Given the description of an element on the screen output the (x, y) to click on. 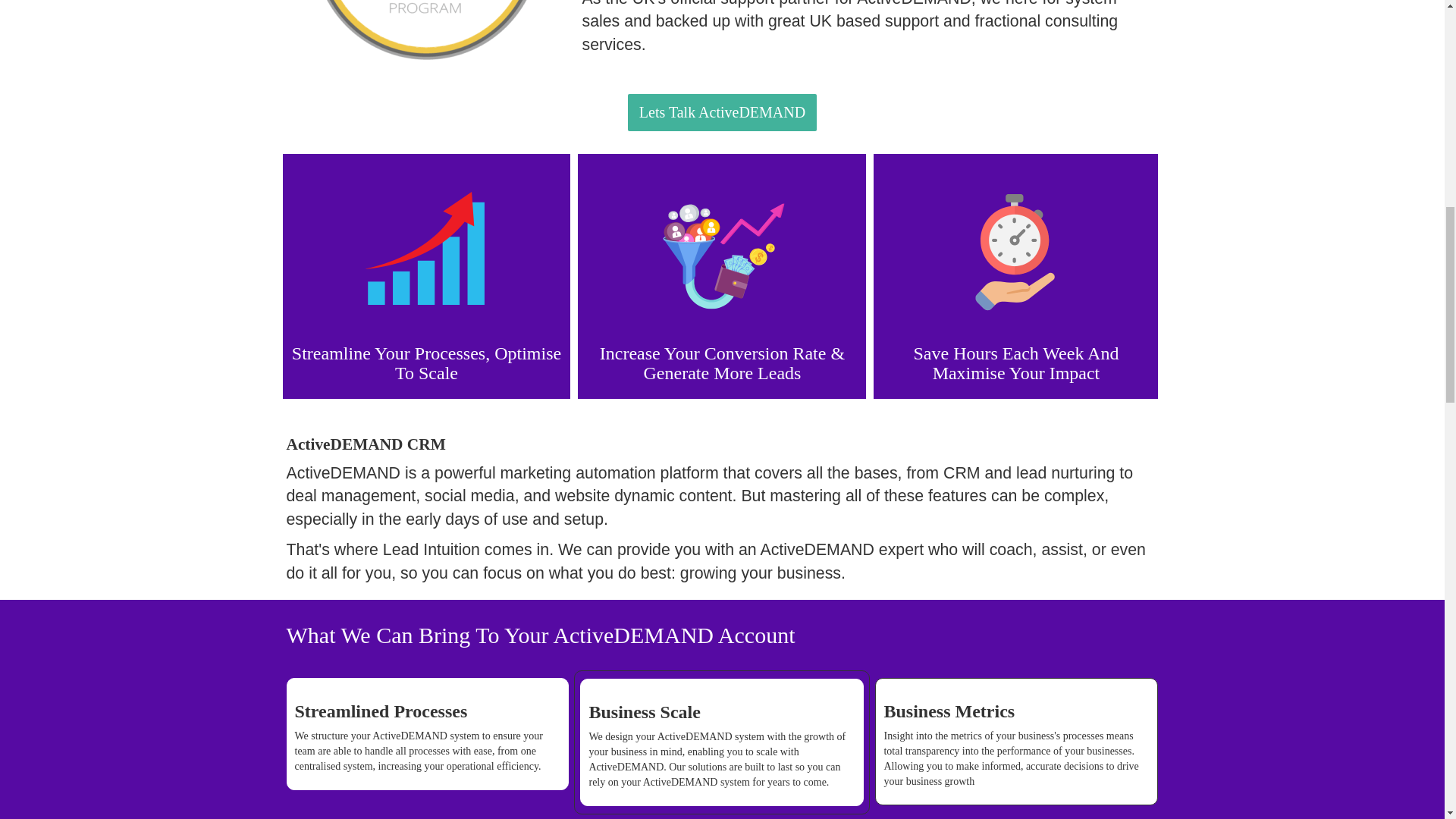
Lets Talk ActiveDEMAND (721, 110)
Lets Talk ActiveDEMAND (721, 112)
